Given the description of an element on the screen output the (x, y) to click on. 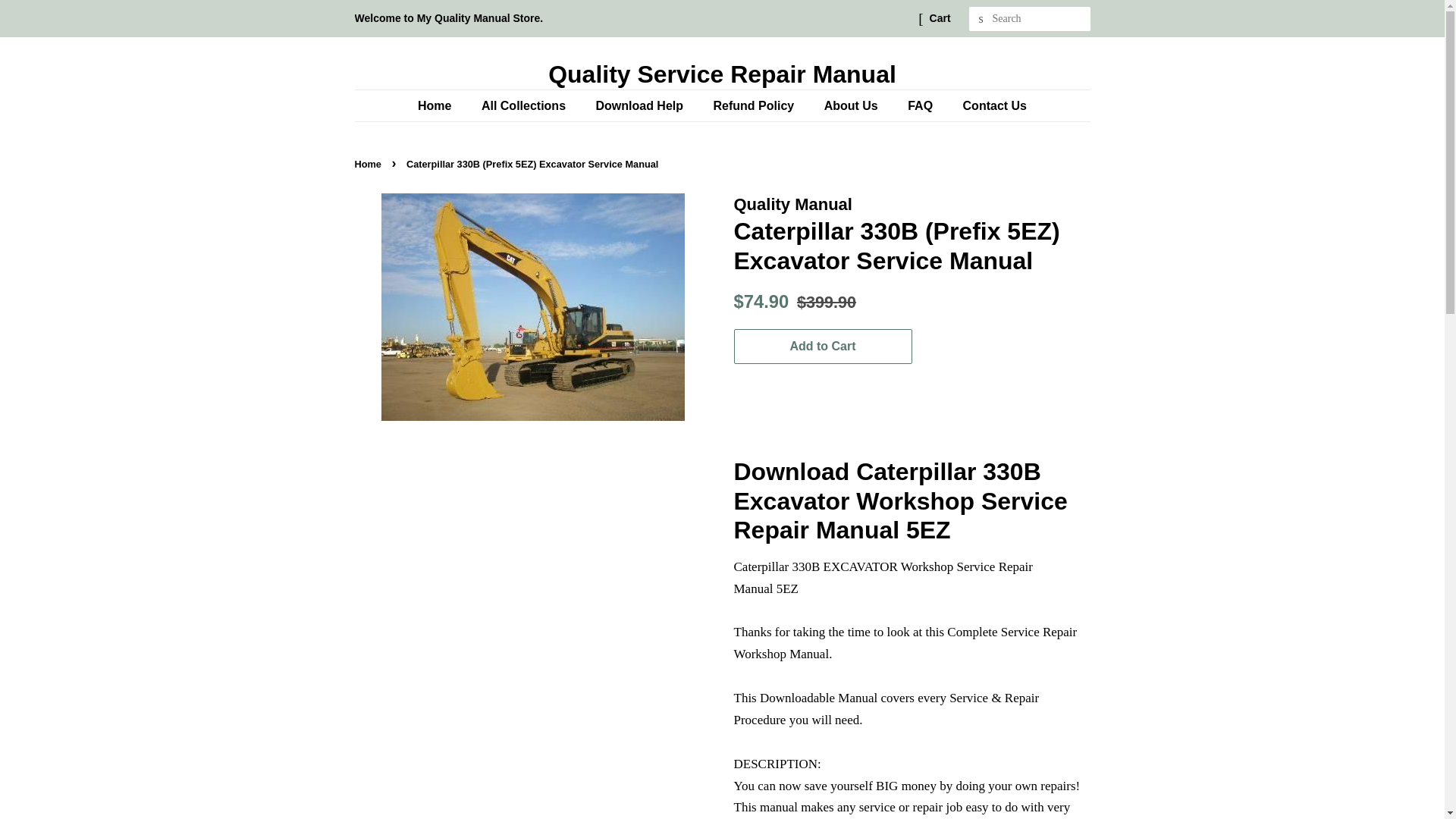
Quality Service Repair Manual (722, 73)
Back to the frontpage (370, 163)
About Us (852, 105)
Contact Us (989, 105)
Home (370, 163)
Refund Policy (755, 105)
Home (441, 105)
Add to Cart (822, 346)
Cart (940, 18)
Search (980, 18)
